Given the description of an element on the screen output the (x, y) to click on. 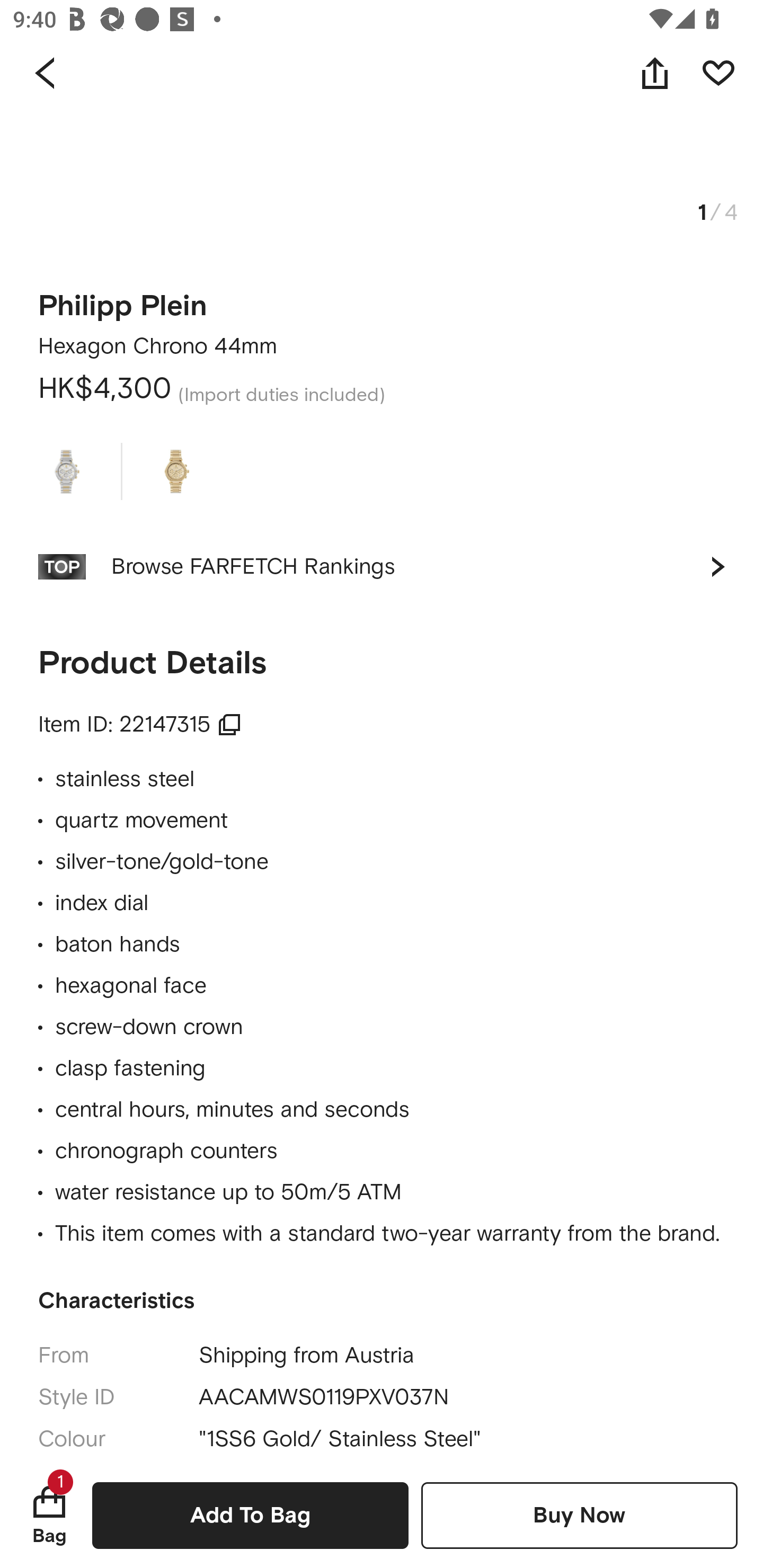
Philipp Plein (122, 300)
Browse FARFETCH Rankings (381, 566)
Item ID: 22147315 (139, 725)
Bag 1 (49, 1515)
Add To Bag (250, 1515)
Buy Now (579, 1515)
